Given the description of an element on the screen output the (x, y) to click on. 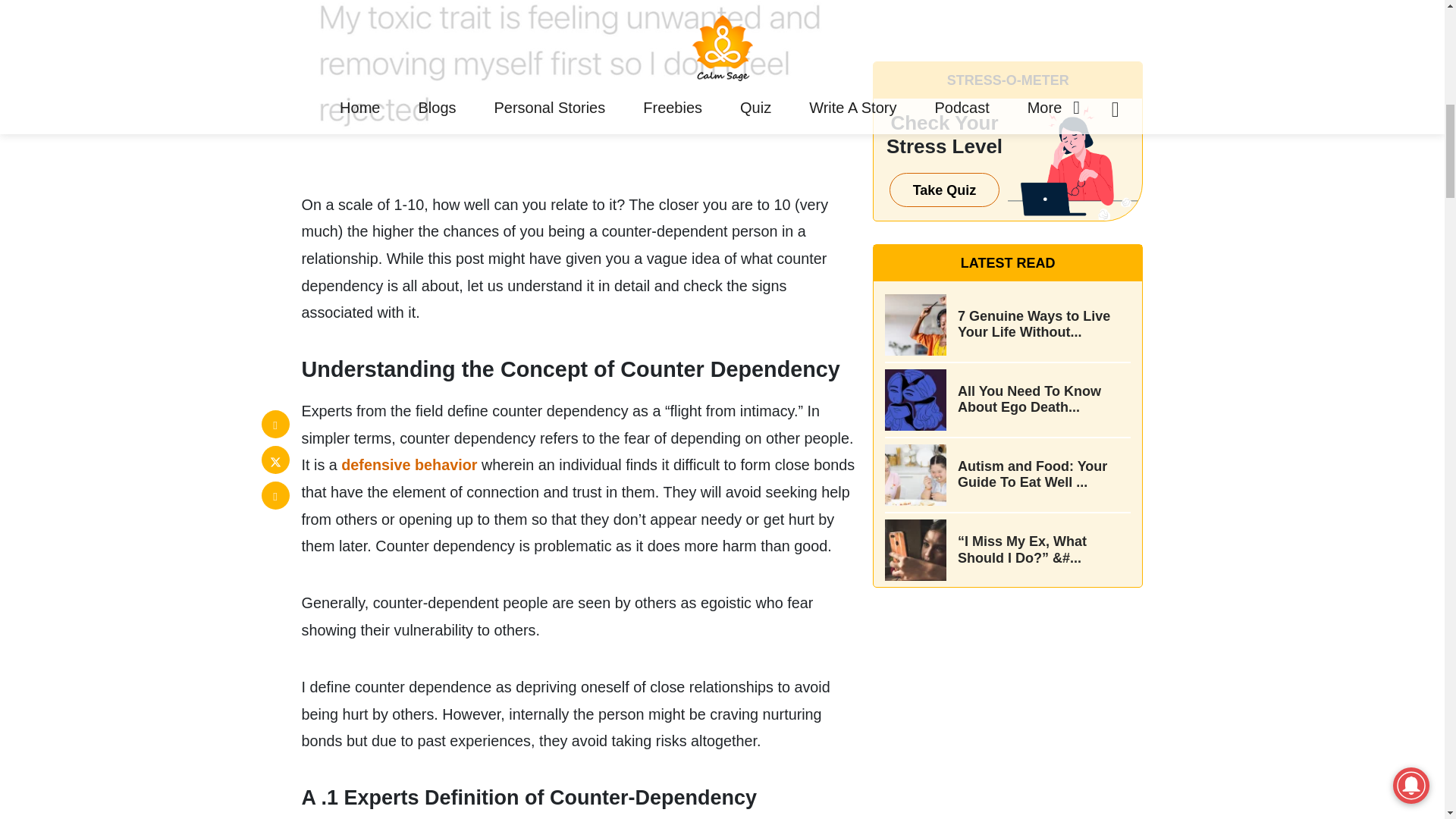
defensive behavior (408, 464)
